Given the description of an element on the screen output the (x, y) to click on. 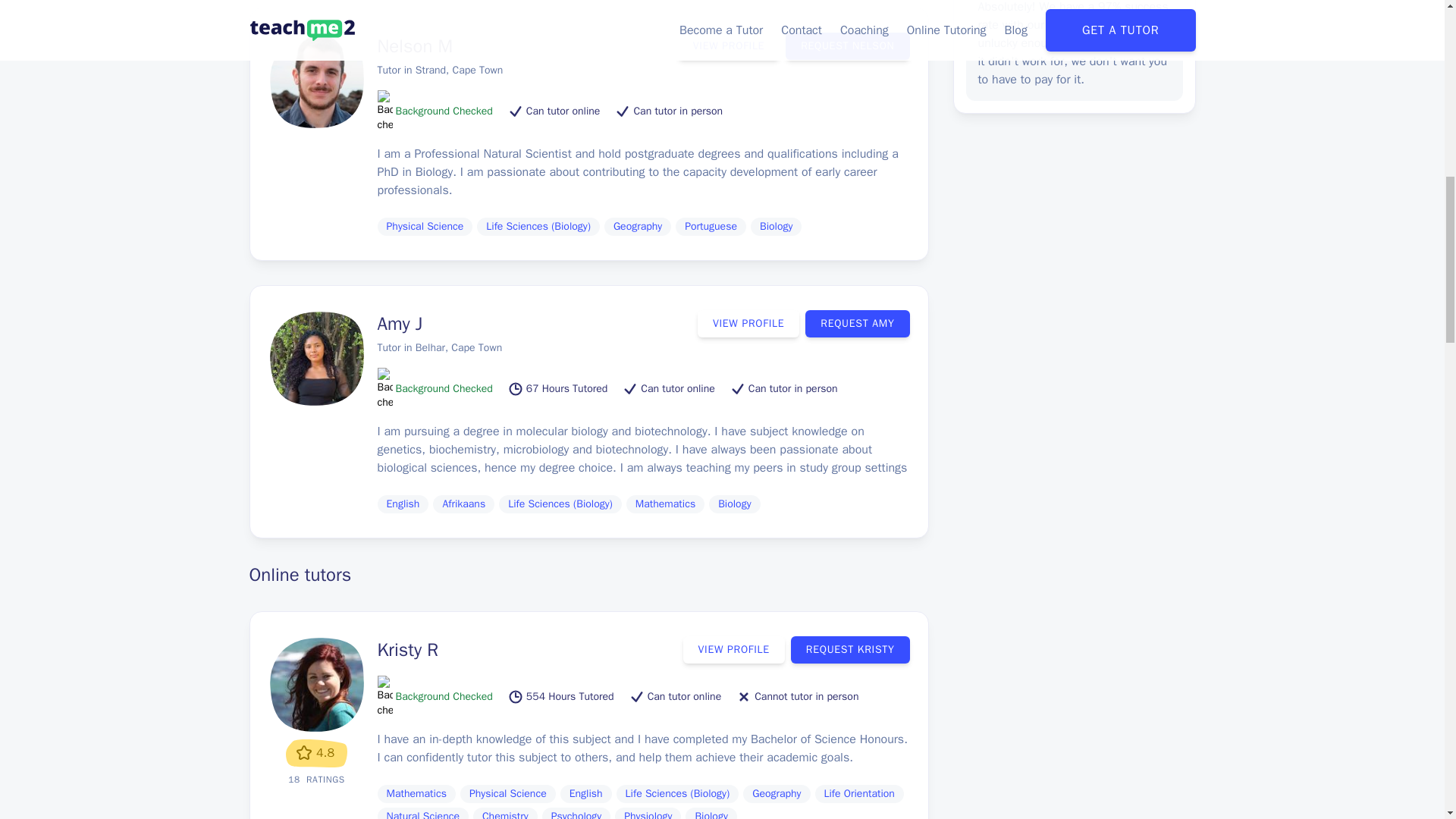
VIEW PROFILE (728, 45)
Nelson M (414, 46)
